Given the description of an element on the screen output the (x, y) to click on. 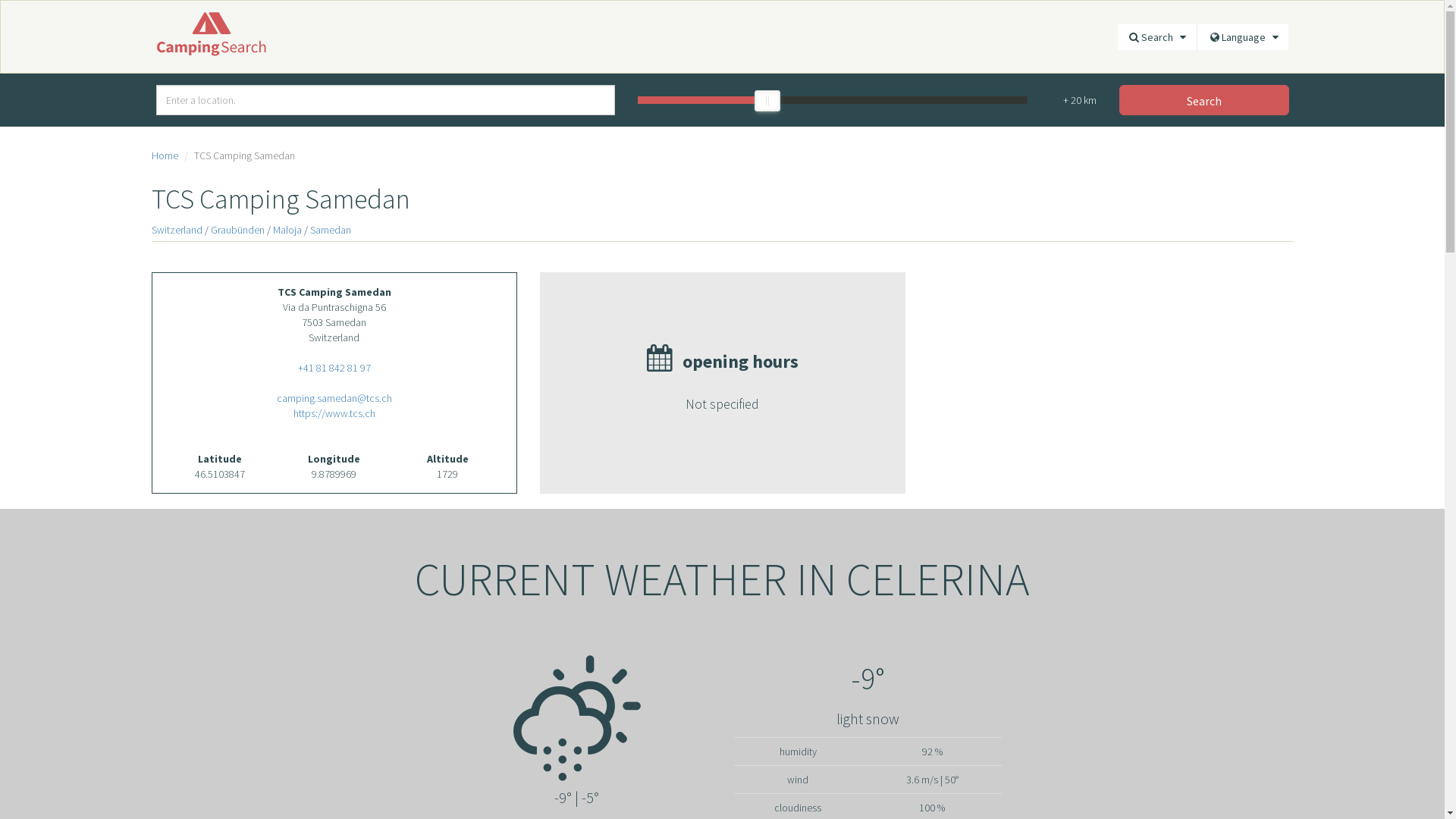
Maloja Element type: text (287, 229)
Home Element type: text (164, 155)
Search Element type: text (1204, 99)
https://www.tcs.ch Element type: text (333, 413)
Switzerland Element type: text (176, 229)
camping.samedan@tcs.ch Element type: text (333, 397)
Search   Element type: text (1156, 37)
Samedan Element type: text (329, 229)
Language   Element type: text (1243, 37)
+41 81 842 81 97 Element type: text (333, 367)
